Given the description of an element on the screen output the (x, y) to click on. 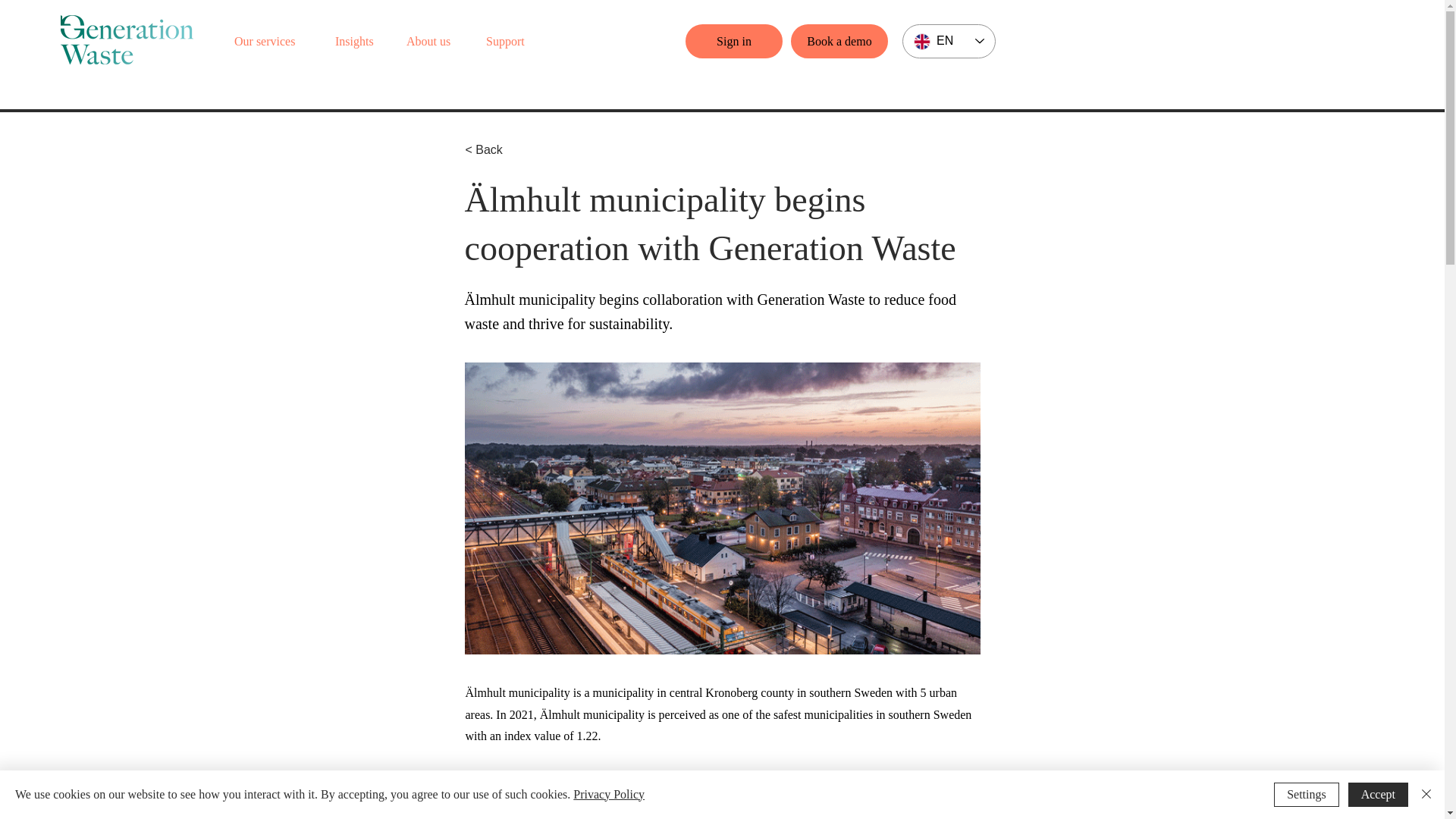
Sign in (734, 41)
Settings (1306, 794)
Privacy Policy (609, 793)
Accept (1377, 794)
Book a demo (839, 41)
